Given the description of an element on the screen output the (x, y) to click on. 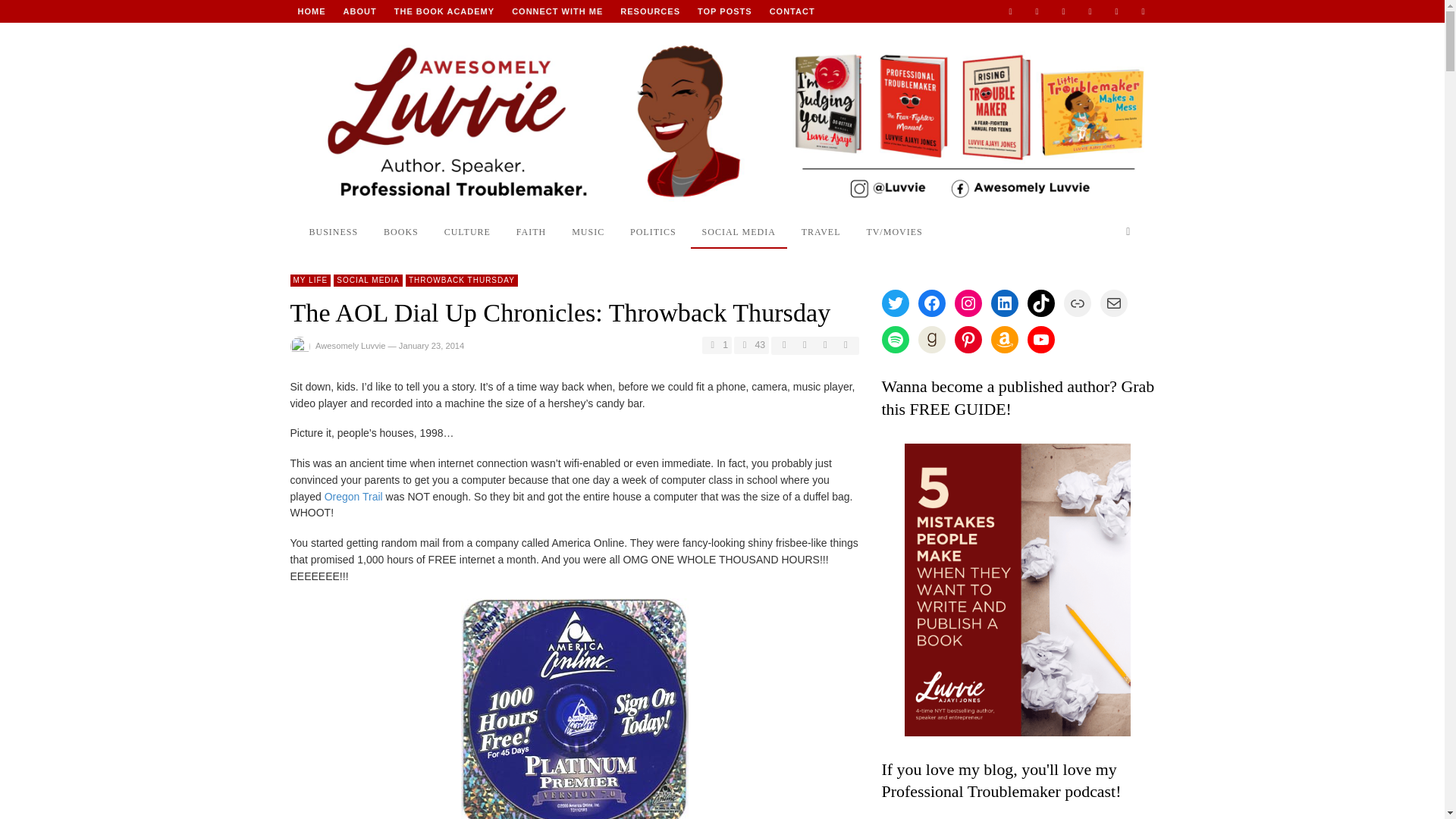
Awesomely Luvvie (311, 11)
RESOURCES (649, 11)
Pinterest (1116, 11)
Twitter (1142, 11)
CONTACT (791, 11)
CONNECT WITH ME (556, 11)
ABOUT (360, 11)
THE BOOK ACADEMY (444, 11)
Email (1010, 11)
Instagram (1063, 11)
HOME (311, 11)
BUSINESS (333, 231)
TOP POSTS (725, 11)
Contact (791, 11)
LinkedIn (1089, 11)
